Given the description of an element on the screen output the (x, y) to click on. 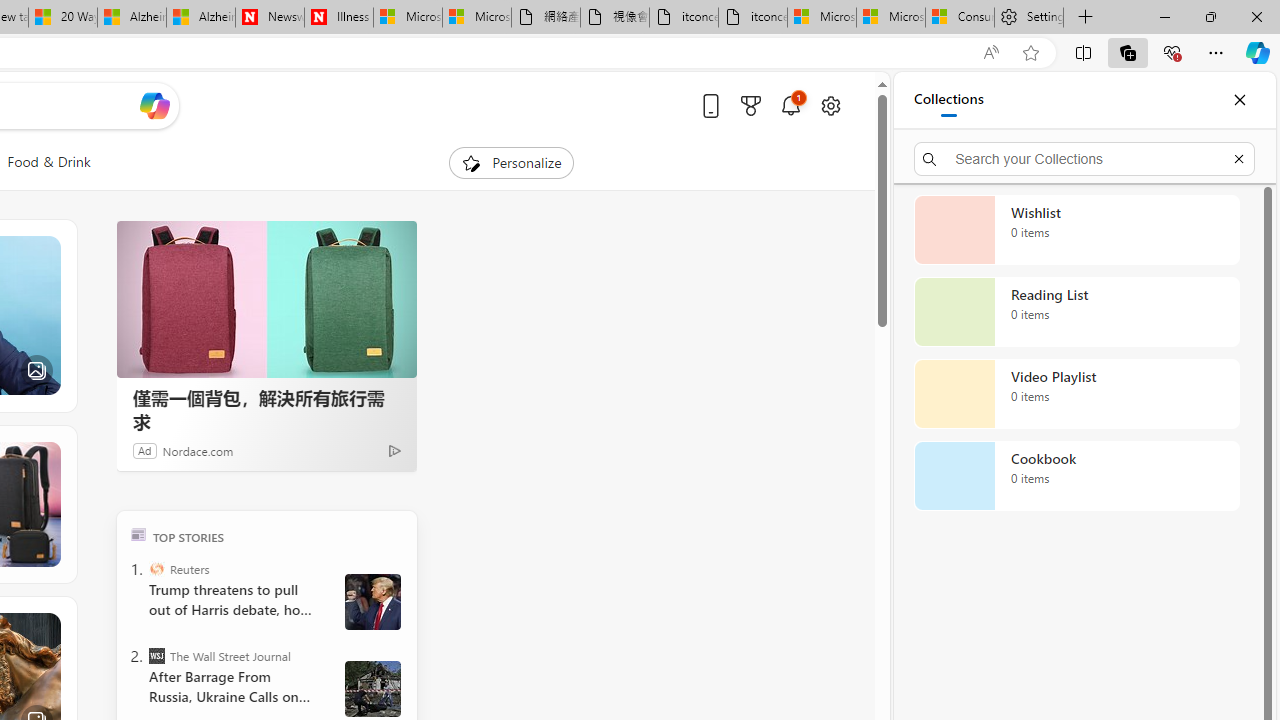
Reading List collection, 0 items (1076, 312)
Nordace.com (198, 450)
